Given the description of an element on the screen output the (x, y) to click on. 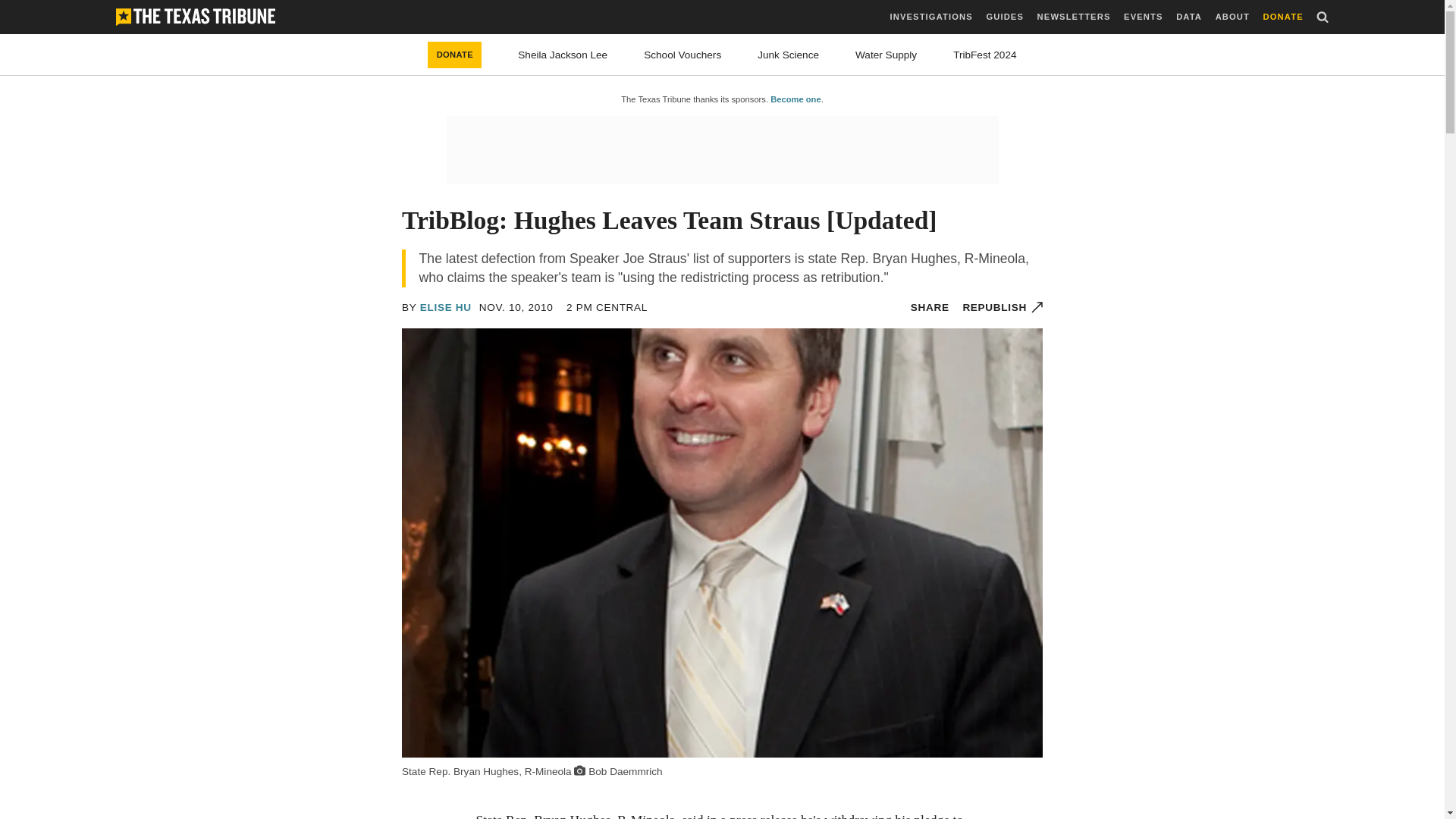
NEWSLETTERS (1073, 17)
REPUBLISH (1002, 307)
Junk Science (787, 54)
Water Supply (886, 54)
Sheila Jackson Lee (562, 54)
DONATE (454, 54)
2010-11-10 14:10 CST (606, 307)
ELISE HU (445, 307)
ABOUT (1232, 17)
School Vouchers (681, 54)
Become one (795, 99)
TribFest 2024 (984, 54)
DONATE (1283, 17)
GUIDES (1004, 17)
EVENTS (1142, 17)
